Given the description of an element on the screen output the (x, y) to click on. 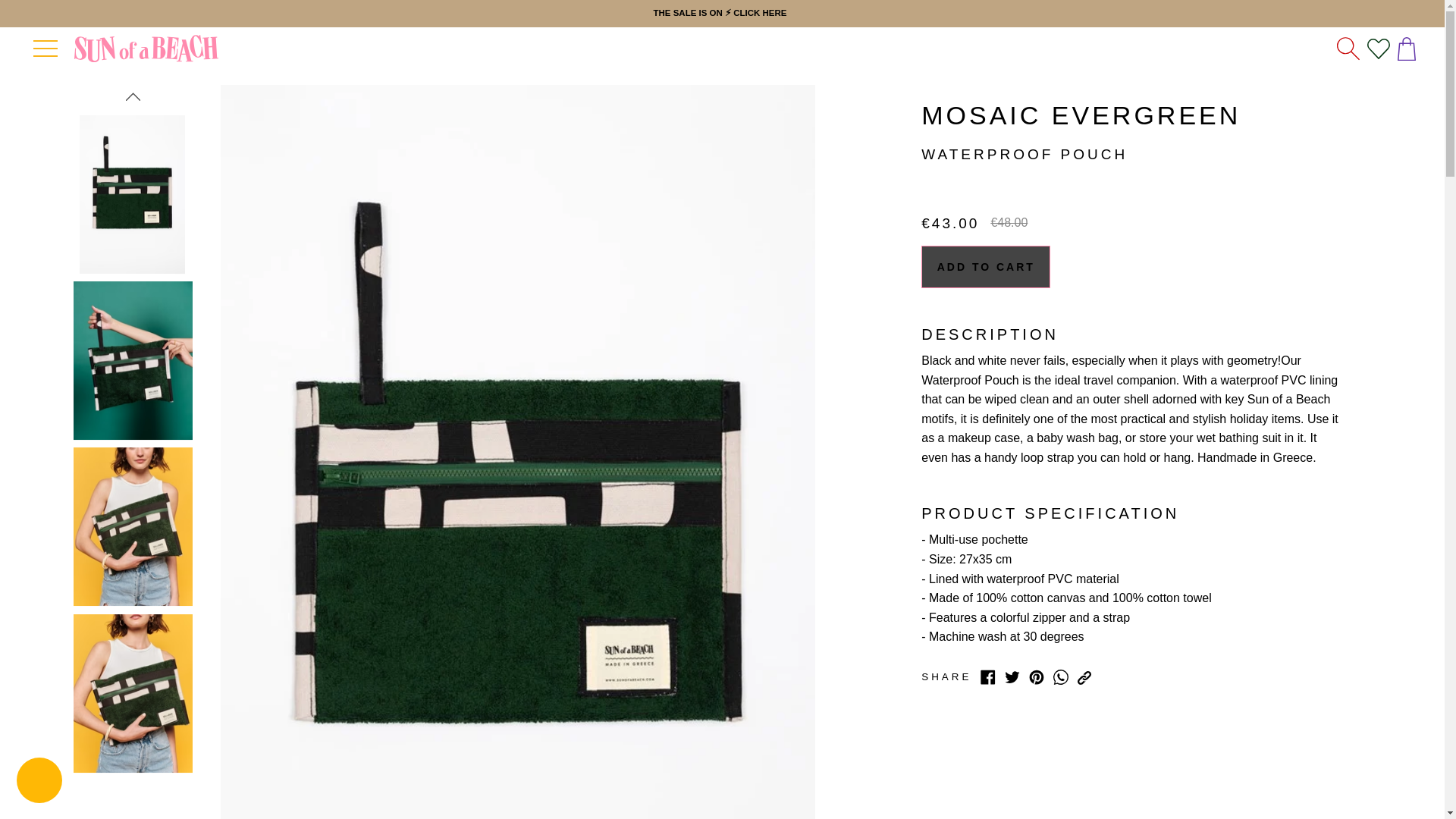
Share on Twitter (1012, 676)
Share on Facebook (987, 676)
Pin on Pinterest (1036, 676)
Share on WhatsApp (1060, 676)
Shopify online store chat (38, 781)
